Given the description of an element on the screen output the (x, y) to click on. 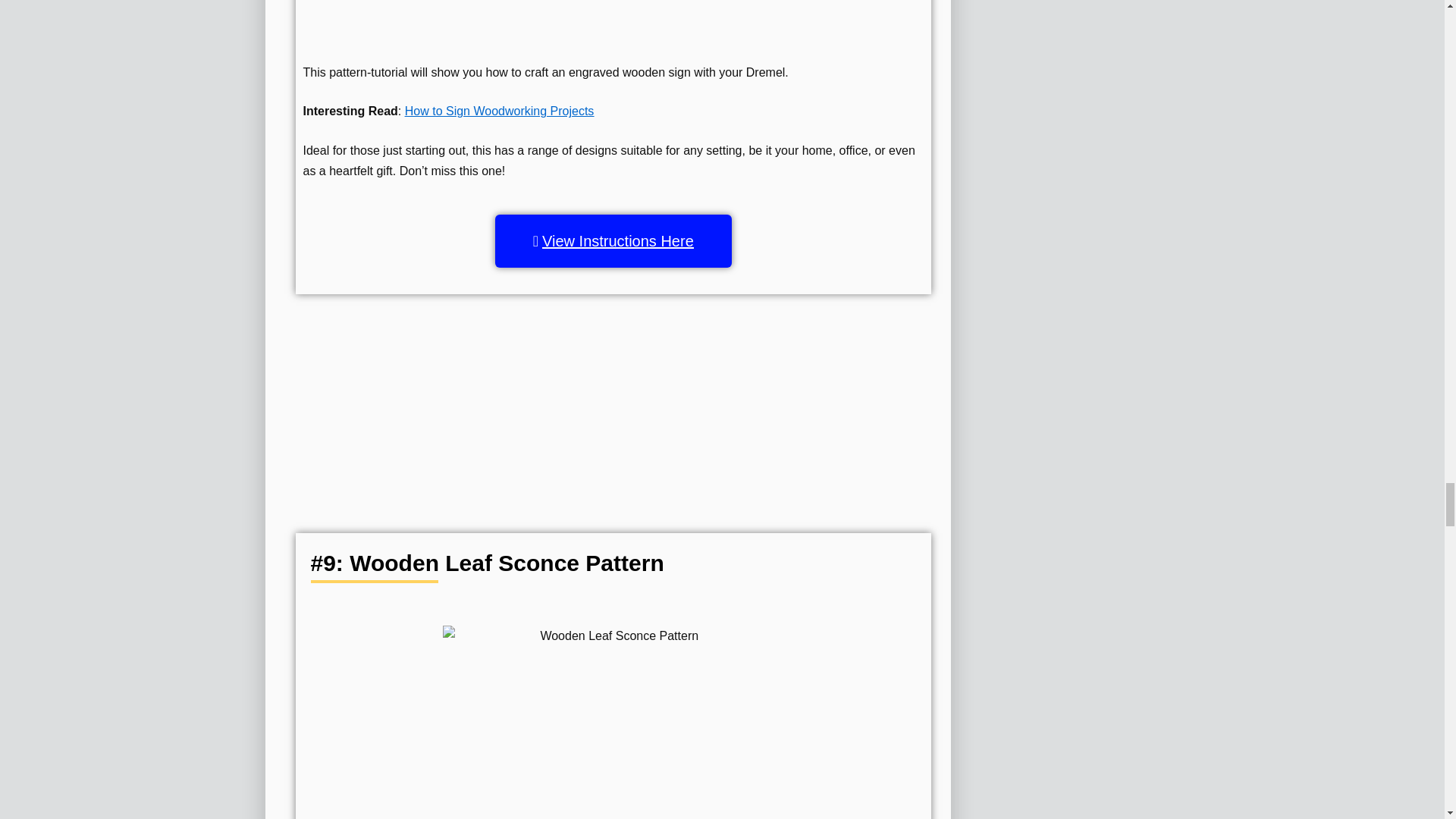
How to Sign Woodworking Projects (499, 110)
View Instructions Here (613, 240)
Wooden Leaf Sconce Pattern (613, 722)
